Given the description of an element on the screen output the (x, y) to click on. 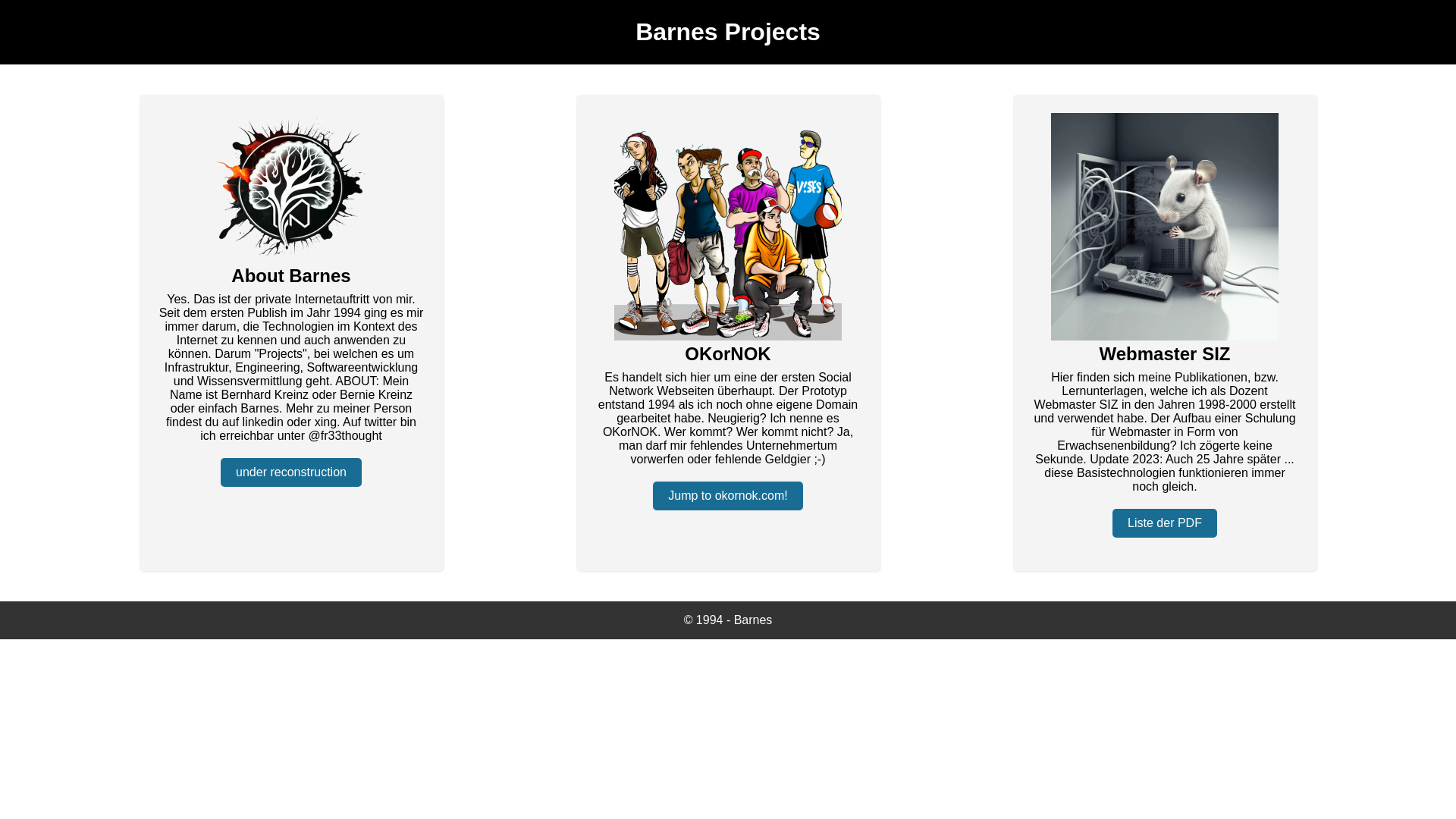
under reconstruction Element type: text (290, 472)
Jump to okornok.com! Element type: text (727, 495)
Liste der PDF Element type: text (1164, 522)
